Given the description of an element on the screen output the (x, y) to click on. 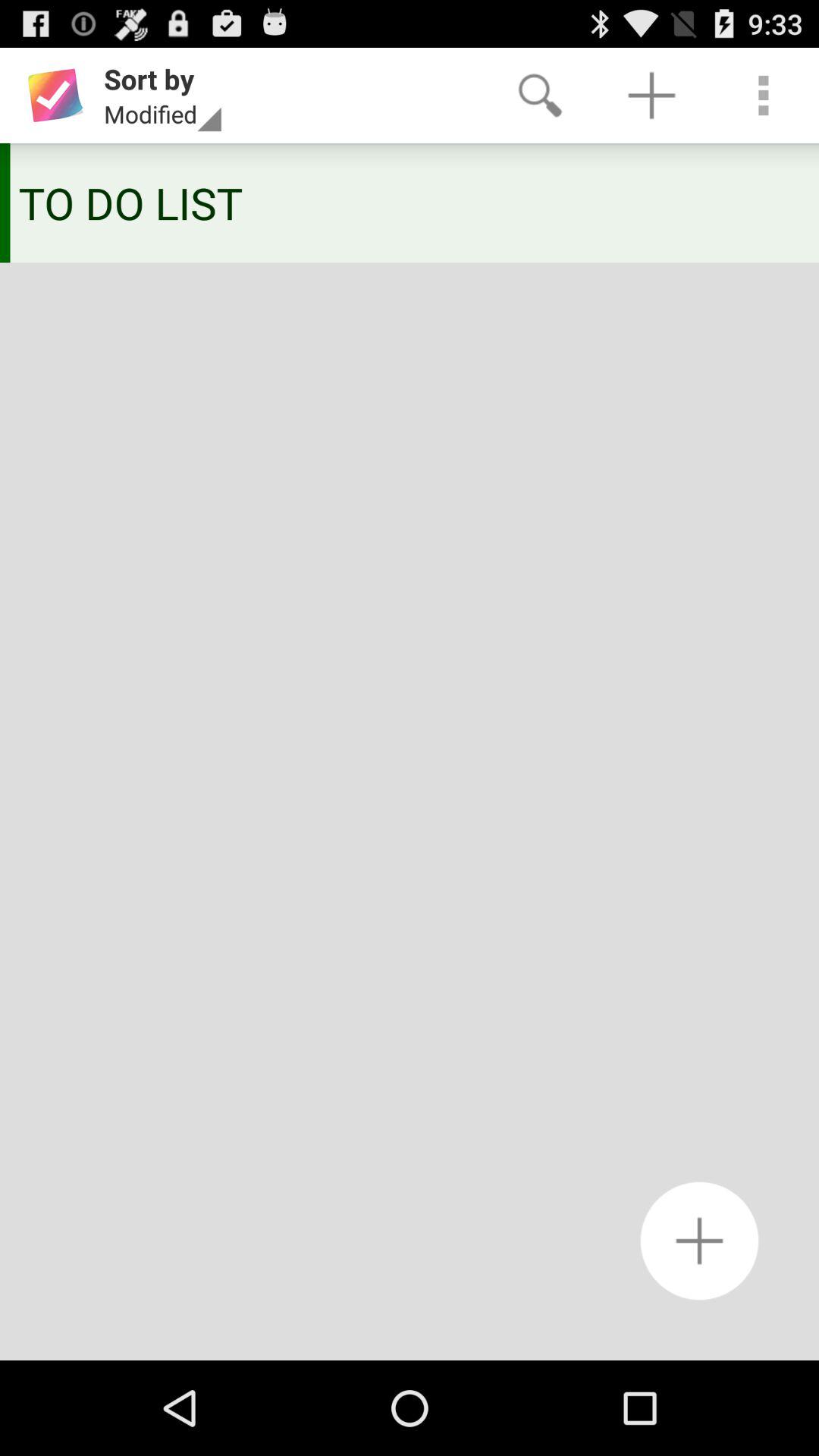
tap item next to sort by app (540, 95)
